Given the description of an element on the screen output the (x, y) to click on. 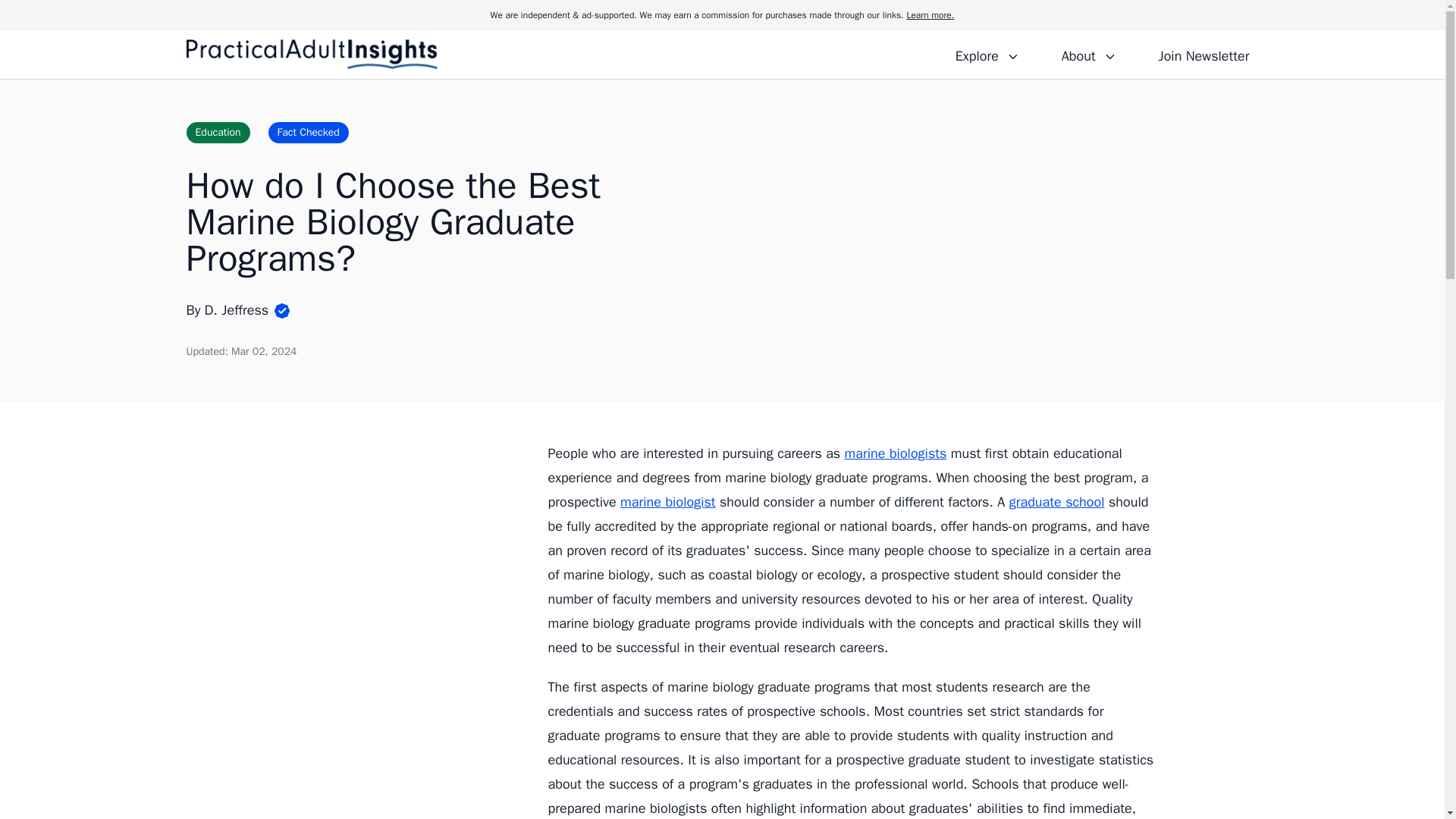
Fact Checked (308, 132)
Education (218, 132)
Join Newsletter (1202, 54)
About (1088, 54)
Explore (986, 54)
graduate school (1057, 501)
marine biologist (667, 501)
Learn more. (929, 15)
marine biologists (895, 453)
